Given the description of an element on the screen output the (x, y) to click on. 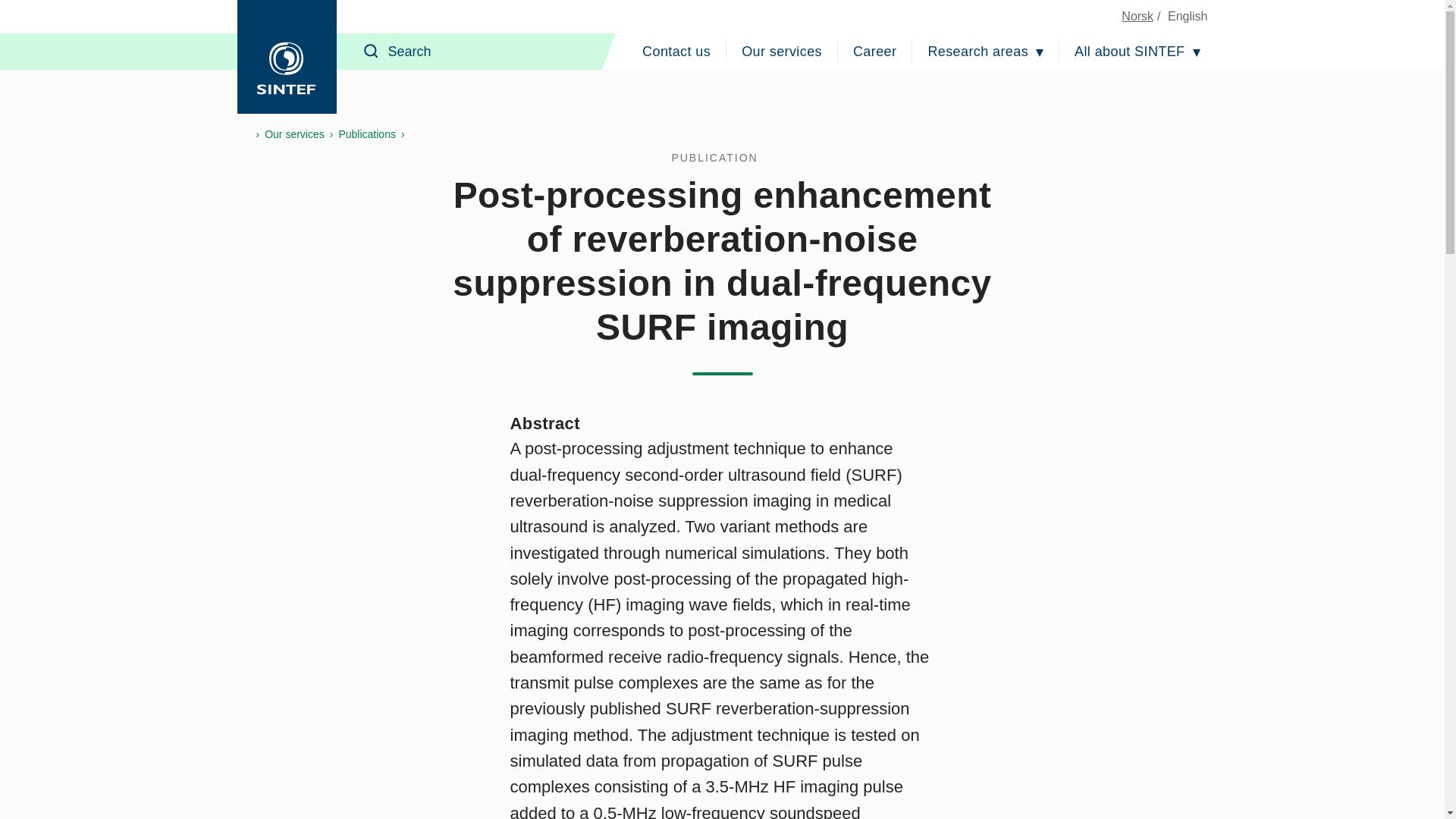
Contact us (675, 51)
Research areas (985, 51)
All publications (722, 157)
Career (874, 51)
All about SINTEF (1137, 51)
Our services (781, 51)
Norsk (1137, 16)
